Given the description of an element on the screen output the (x, y) to click on. 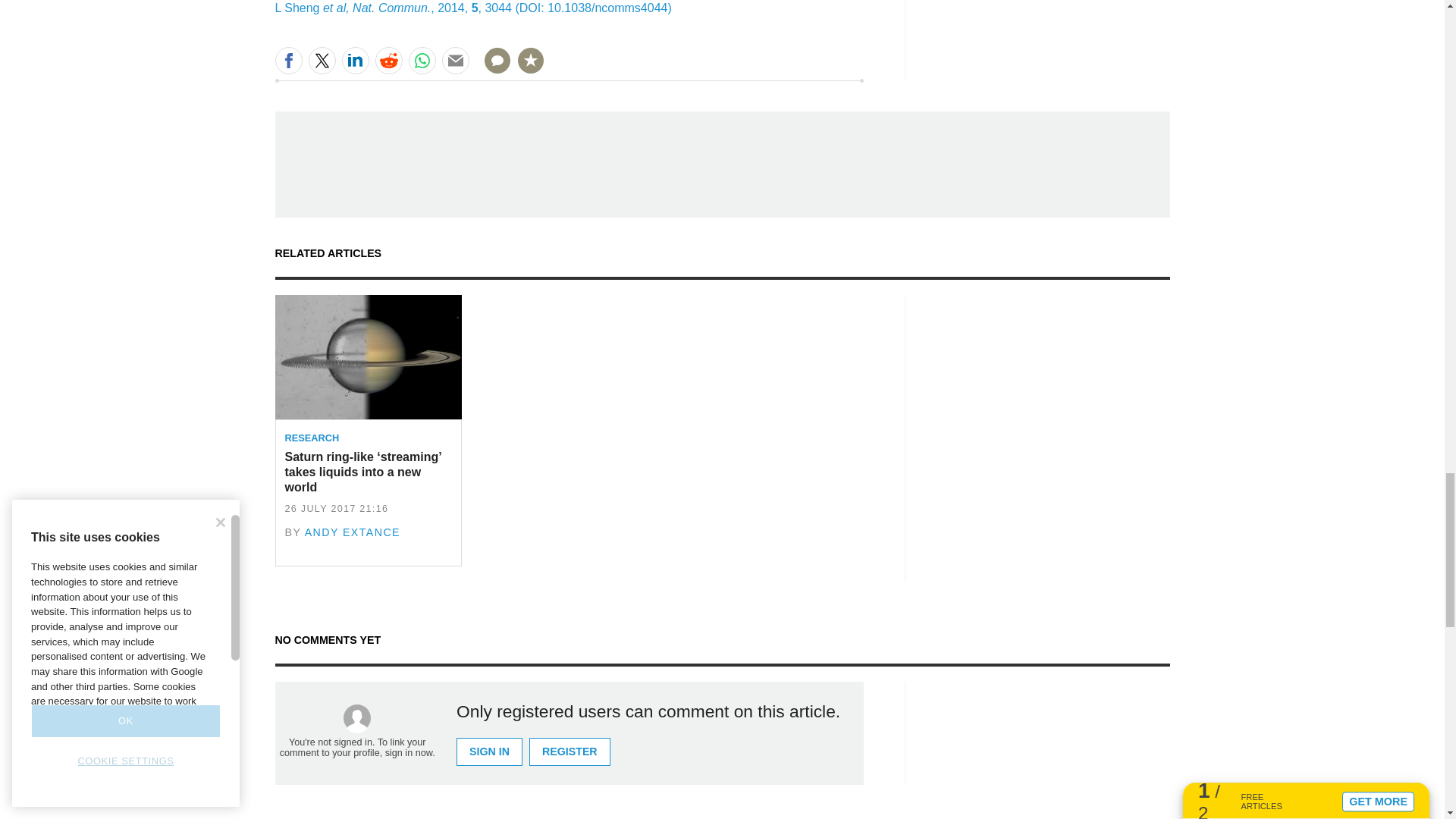
Share this on Facebook (288, 60)
Share this on Reddit (387, 60)
NO COMMENTS (492, 69)
Share this by email (454, 60)
Share this on LinkedIn (354, 60)
Share this on WhatsApp (421, 60)
